Given the description of an element on the screen output the (x, y) to click on. 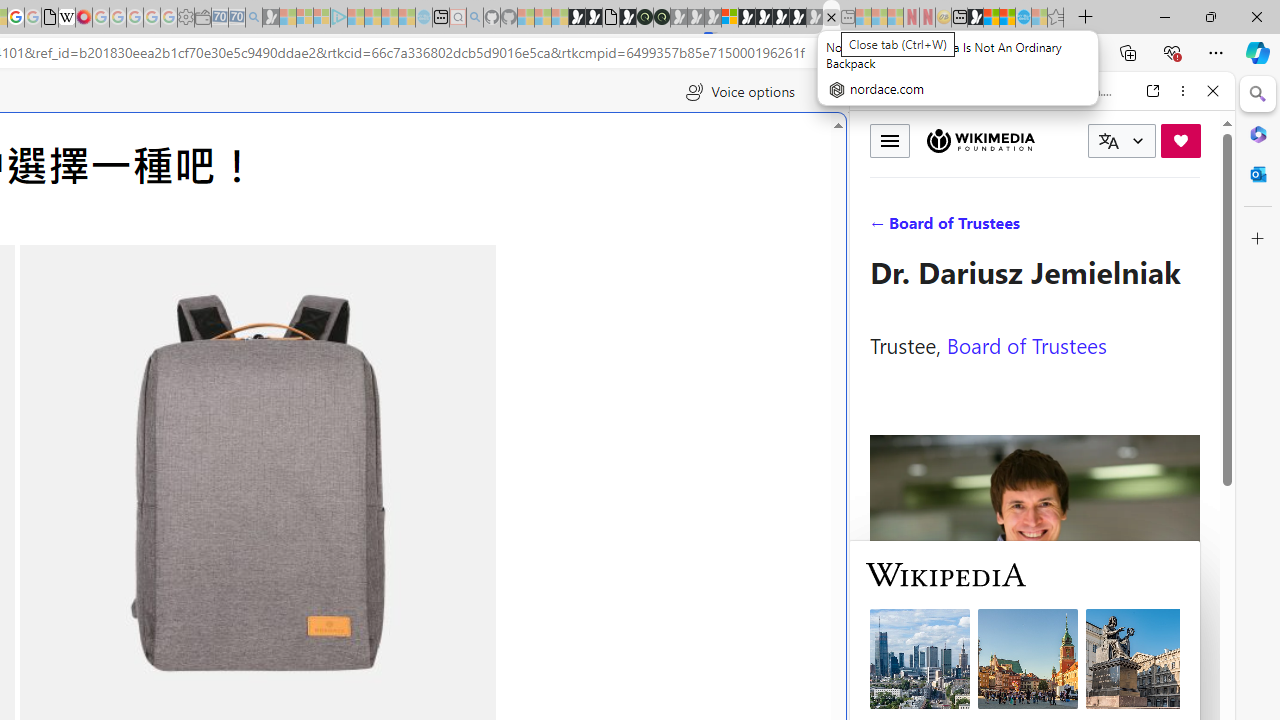
Class: i icon icon-translate language-switcher__icon (1108, 141)
Wikimedia Foundation (980, 140)
Class: flickity-button-icon (443, 502)
